Given the description of an element on the screen output the (x, y) to click on. 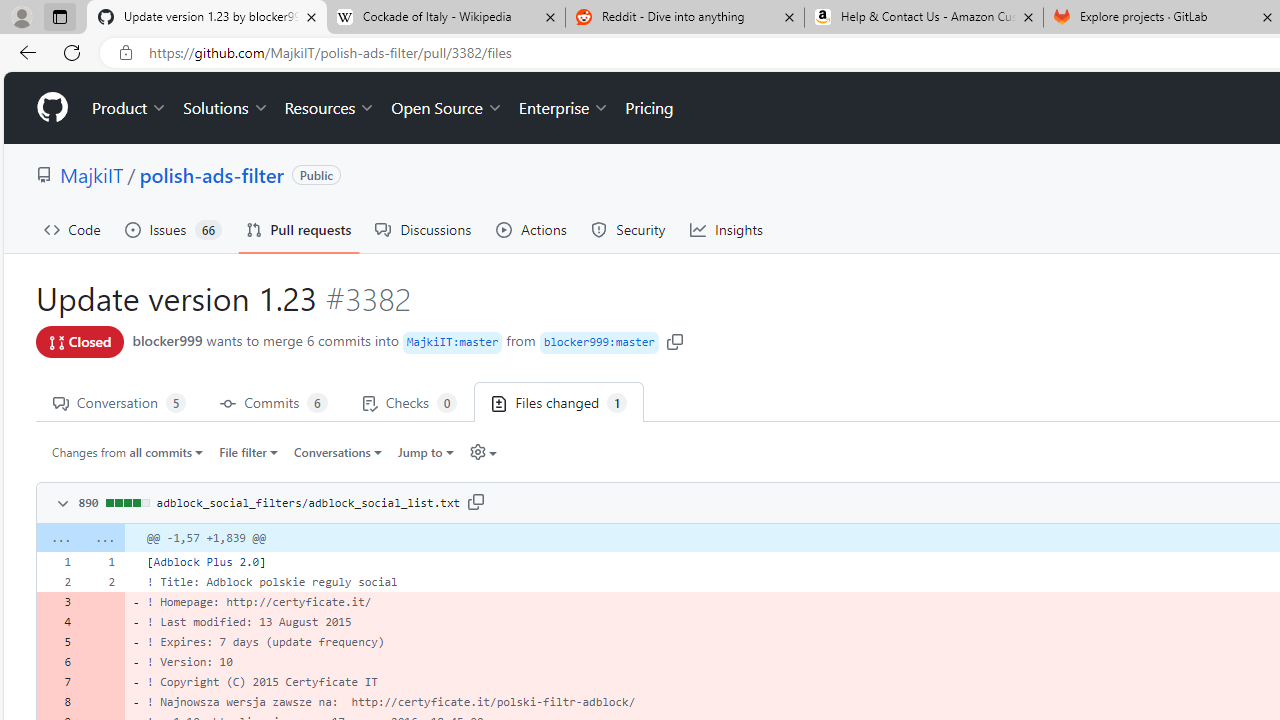
8 (58, 701)
1 (102, 561)
 Checks 0 (409, 401)
Copy (476, 501)
Diff settings (482, 451)
Actions (531, 229)
Conversations (338, 451)
blocker999 (167, 340)
blocker999 : master (598, 342)
Insights (726, 229)
Toggle diff contents (60, 504)
Security (628, 229)
MajkiIT : master (452, 342)
 Conversation 5 (119, 401)
